Given the description of an element on the screen output the (x, y) to click on. 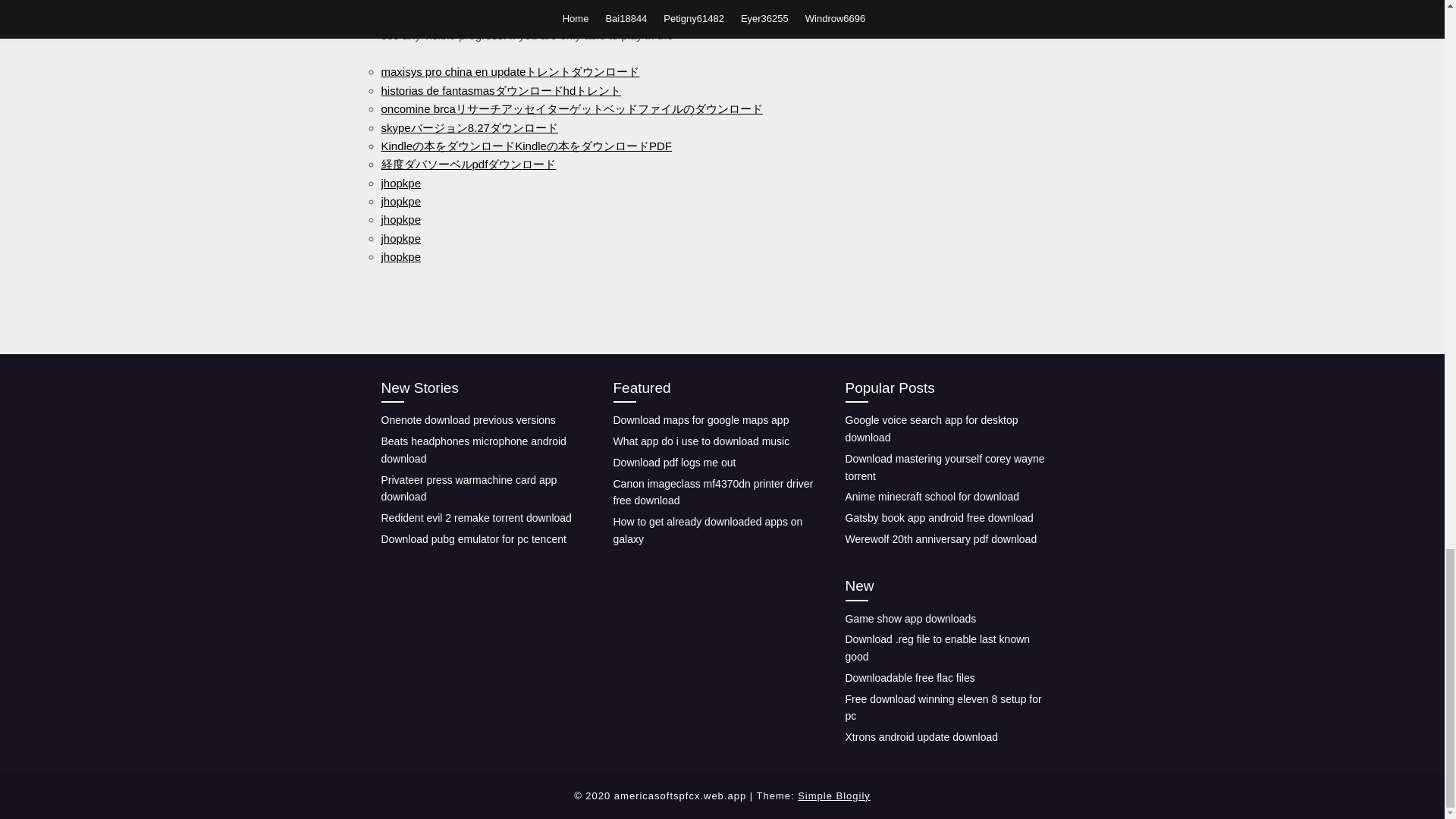
Free download winning eleven 8 setup for pc (942, 706)
Download pdf logs me out (673, 462)
Privateer press warmachine card app download (468, 488)
Beats headphones microphone android download (473, 449)
Werewolf 20th anniversary pdf download (940, 539)
Download maps for google maps app (700, 419)
jhopkpe (400, 201)
Downloadable free flac files (909, 677)
Download .reg file to enable last known good (936, 647)
Redident evil 2 remake torrent download (475, 517)
